Given the description of an element on the screen output the (x, y) to click on. 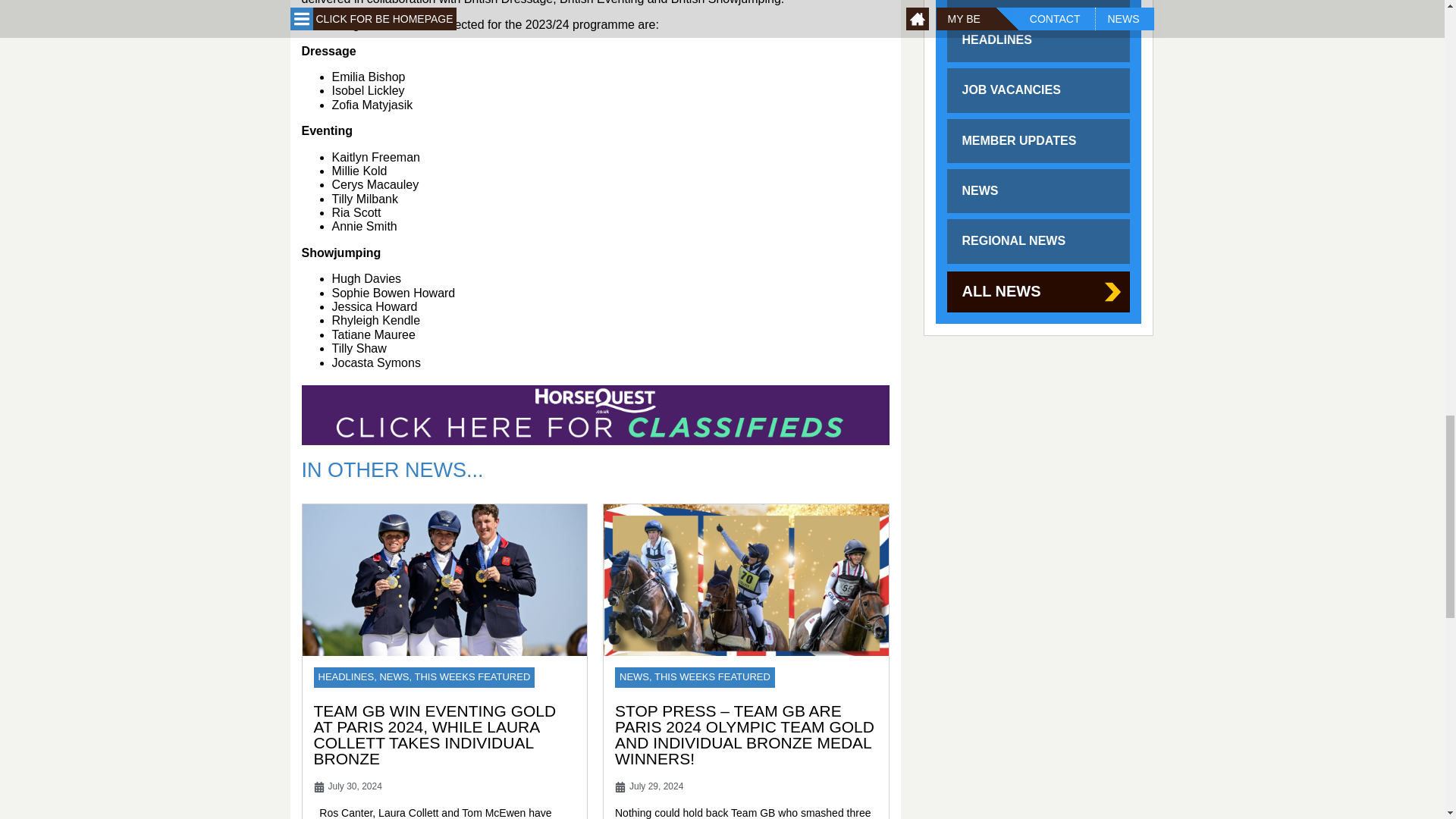
Love: 705 (966, 17)
THIS WEEKS FEATURED (471, 676)
July 29, 2024 (648, 787)
July 30, 2024 (347, 787)
Like: 1,034 (955, 17)
HEADLINES (346, 676)
Love: 15 (966, 396)
Love: 383 (966, 213)
Like: 526 (955, 213)
Wow: 4 (977, 17)
NEWS (393, 676)
Wow: 1 (977, 213)
NEWS (634, 676)
THIS WEEKS FEATURED (711, 676)
Like: 37 (955, 396)
